Given the description of an element on the screen output the (x, y) to click on. 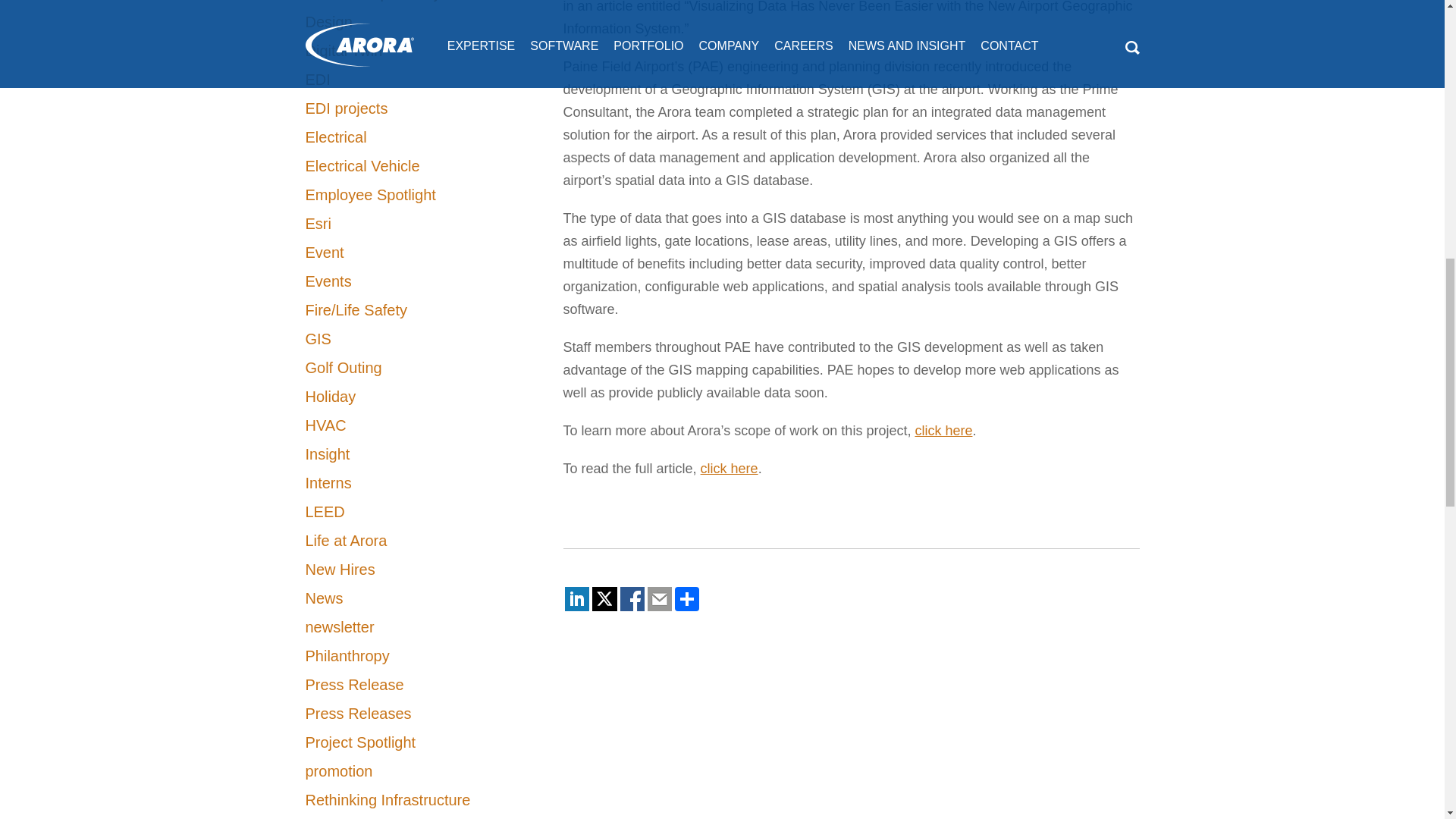
twitter (603, 598)
LinkedIn (576, 598)
Email (659, 598)
Facebook (632, 598)
